Given the description of an element on the screen output the (x, y) to click on. 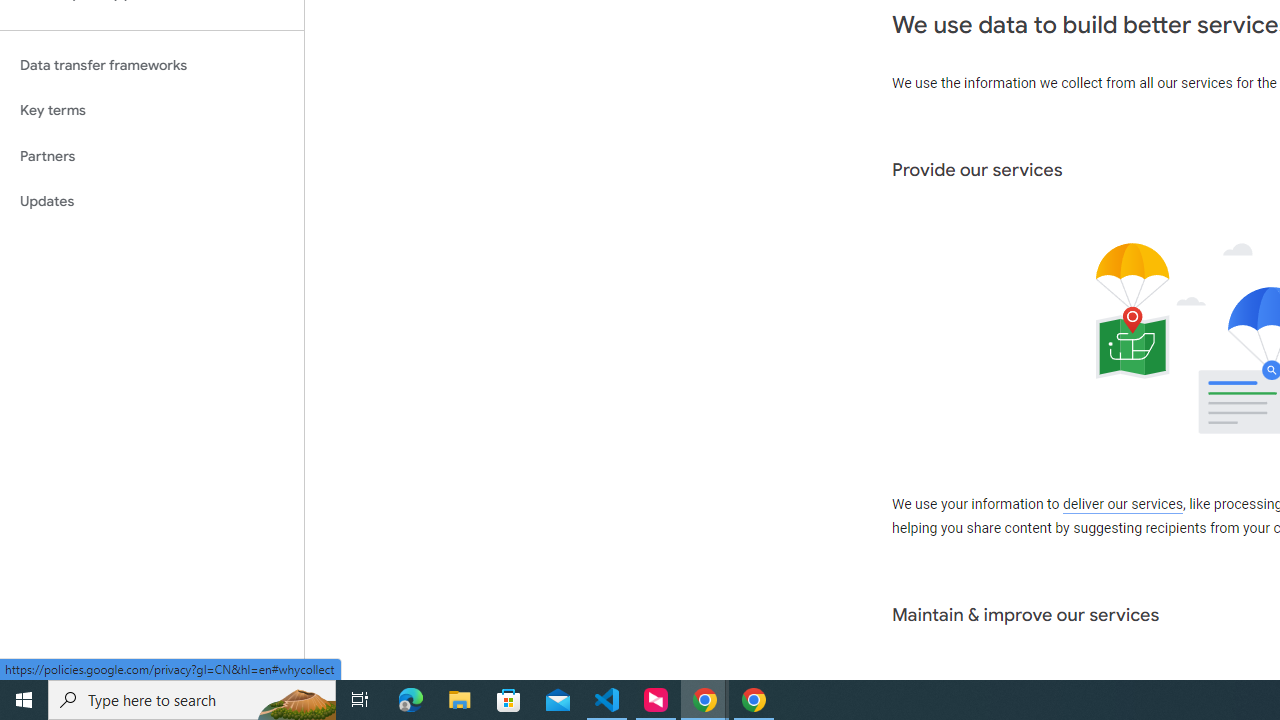
deliver our services (1122, 505)
